Given the description of an element on the screen output the (x, y) to click on. 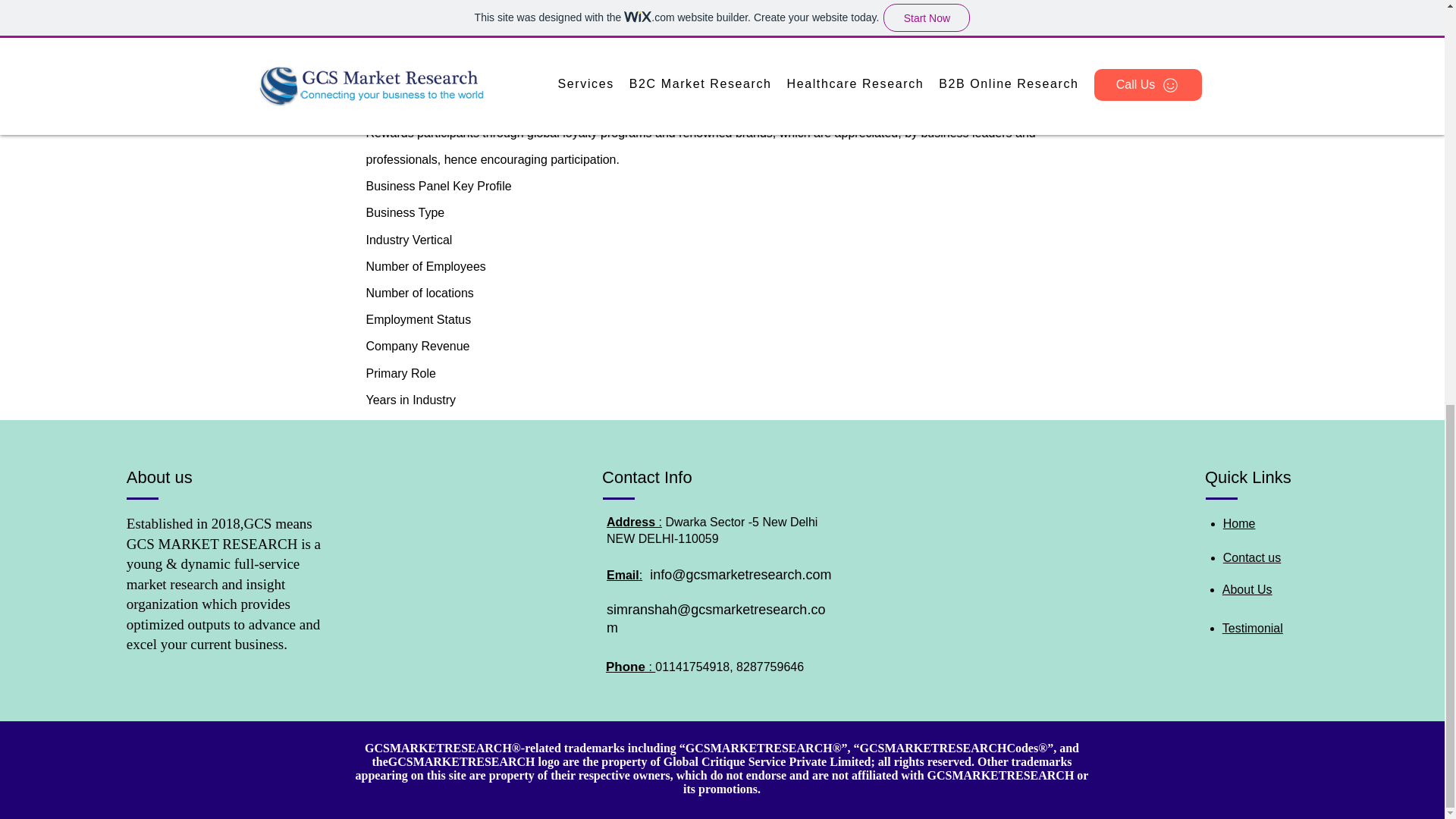
About Us (1247, 589)
Home (1239, 522)
Testimonial (1252, 627)
Contact us (1252, 557)
